Given the description of an element on the screen output the (x, y) to click on. 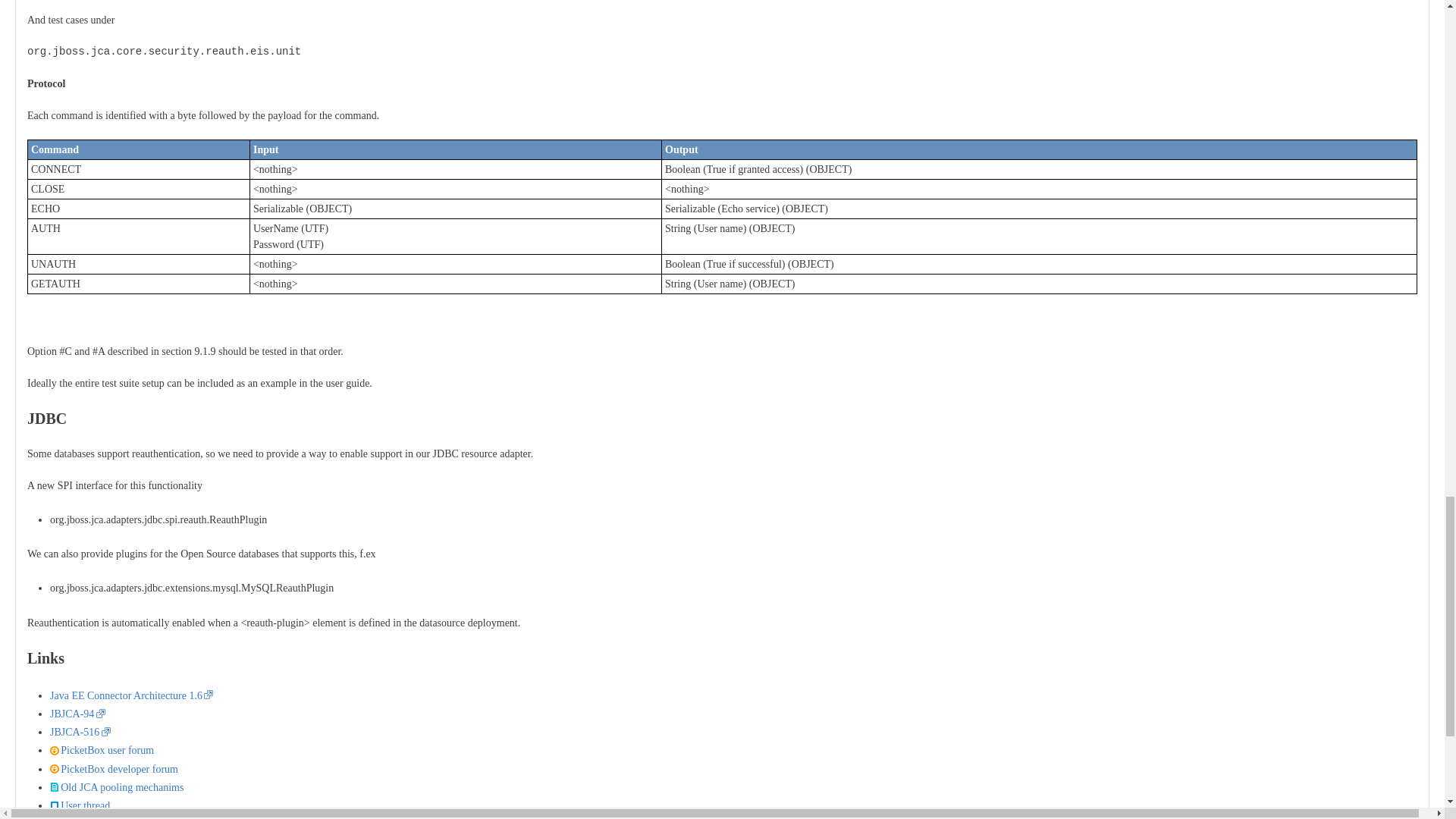
User thread (79, 805)
PicketBox user forum (101, 749)
PicketBox developer forum (113, 768)
Old JCA pooling mechanims (116, 787)
JBJCA-94 (76, 713)
Java EE Connector Architecture 1.6 (130, 695)
JBJCA-516 (79, 731)
JBAS-1429 (79, 818)
